Given the description of an element on the screen output the (x, y) to click on. 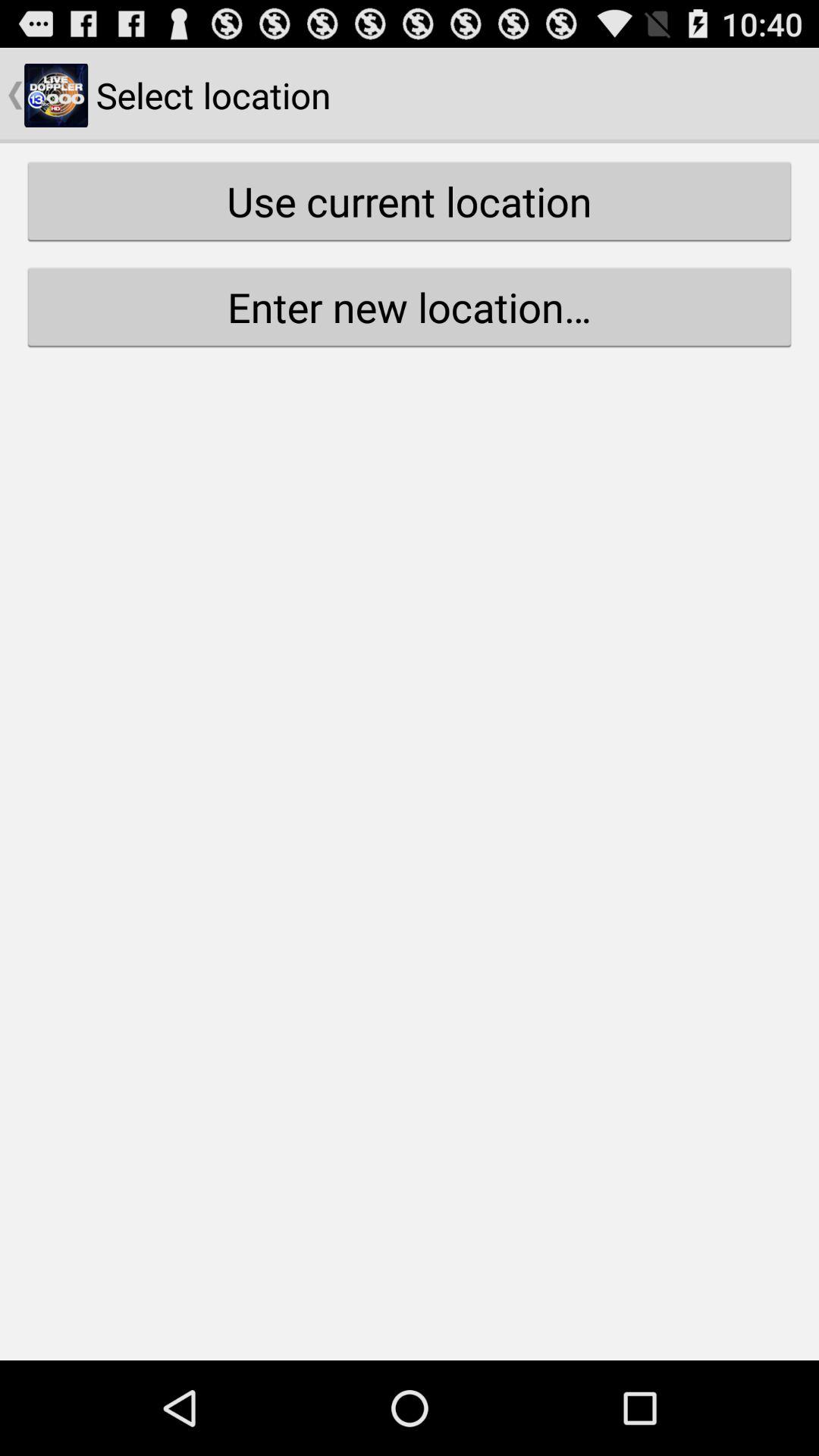
choose the button below use current location icon (409, 306)
